Given the description of an element on the screen output the (x, y) to click on. 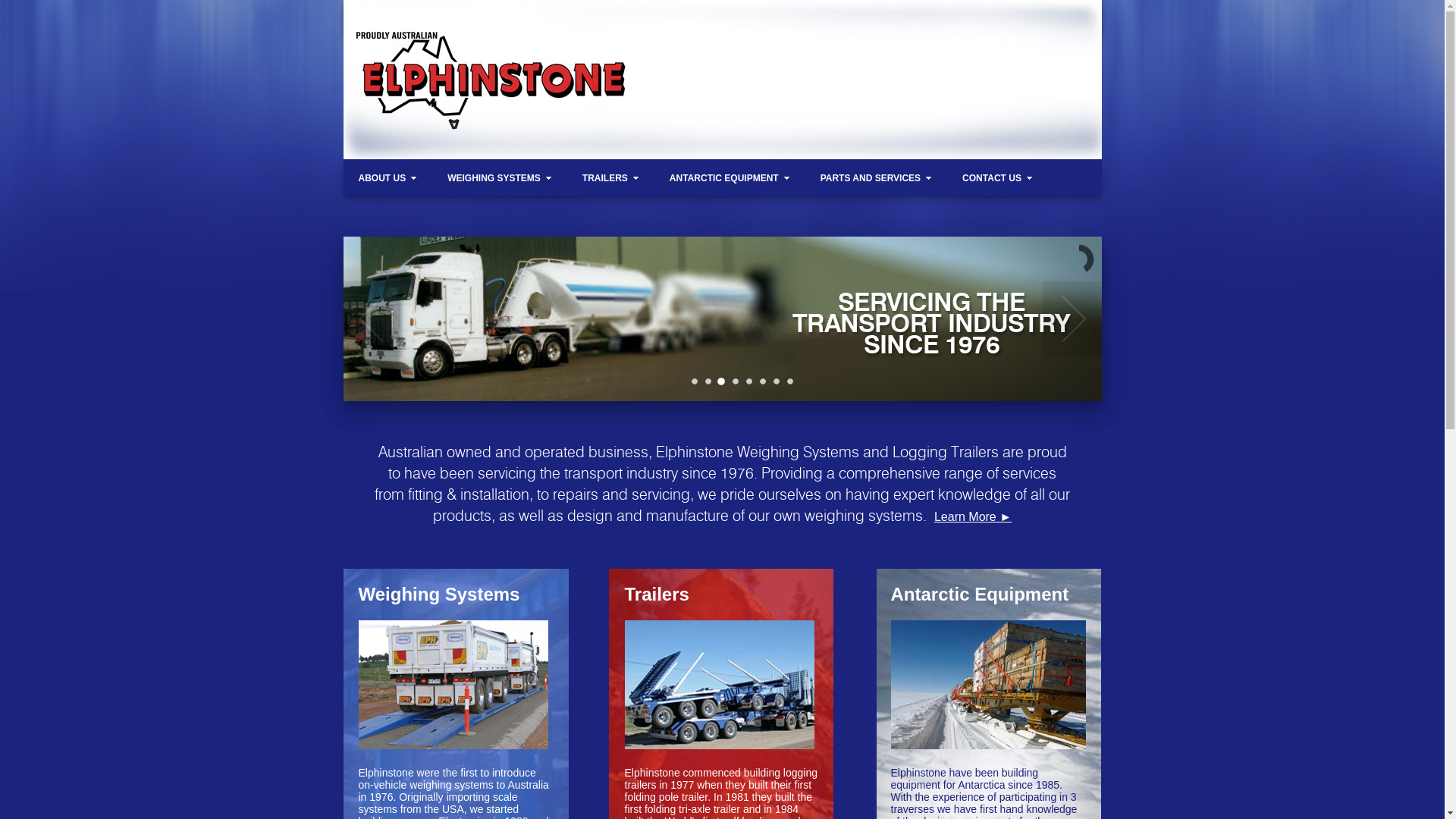
TRAILERS Element type: text (610, 177)
WEIGHING SYSTEMS Element type: text (499, 177)
ANTARCTIC EQUIPMENT Element type: text (729, 177)
PARTS AND SERVICES Element type: text (876, 177)
WEIGHING SYSTEMS Element type: text (499, 17)
PARTS AND SERVICES Element type: text (876, 17)
ANTARCTIC EQUIPMENT Element type: text (729, 17)
Go to Elphinstone Australia Home Element type: hover (484, 67)
ABOUT US Element type: text (387, 177)
CONTACT US Element type: text (997, 17)
CONTACT US Element type: text (997, 177)
TRAILERS Element type: text (610, 17)
ABOUT US Element type: text (387, 17)
